Given the description of an element on the screen output the (x, y) to click on. 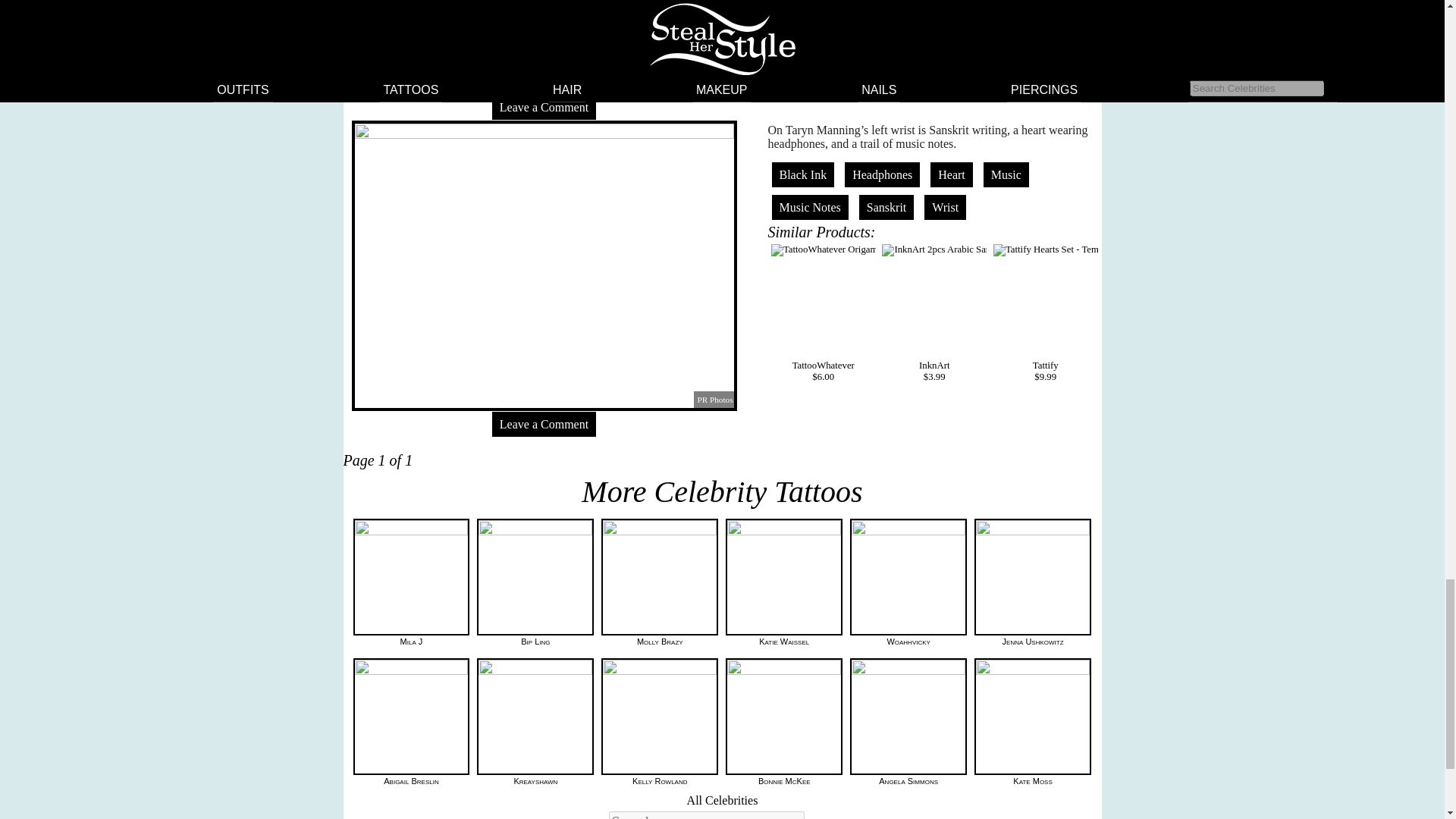
InknArt 2pcs Arabic Sanskrit  (934, 250)
